Given the description of an element on the screen output the (x, y) to click on. 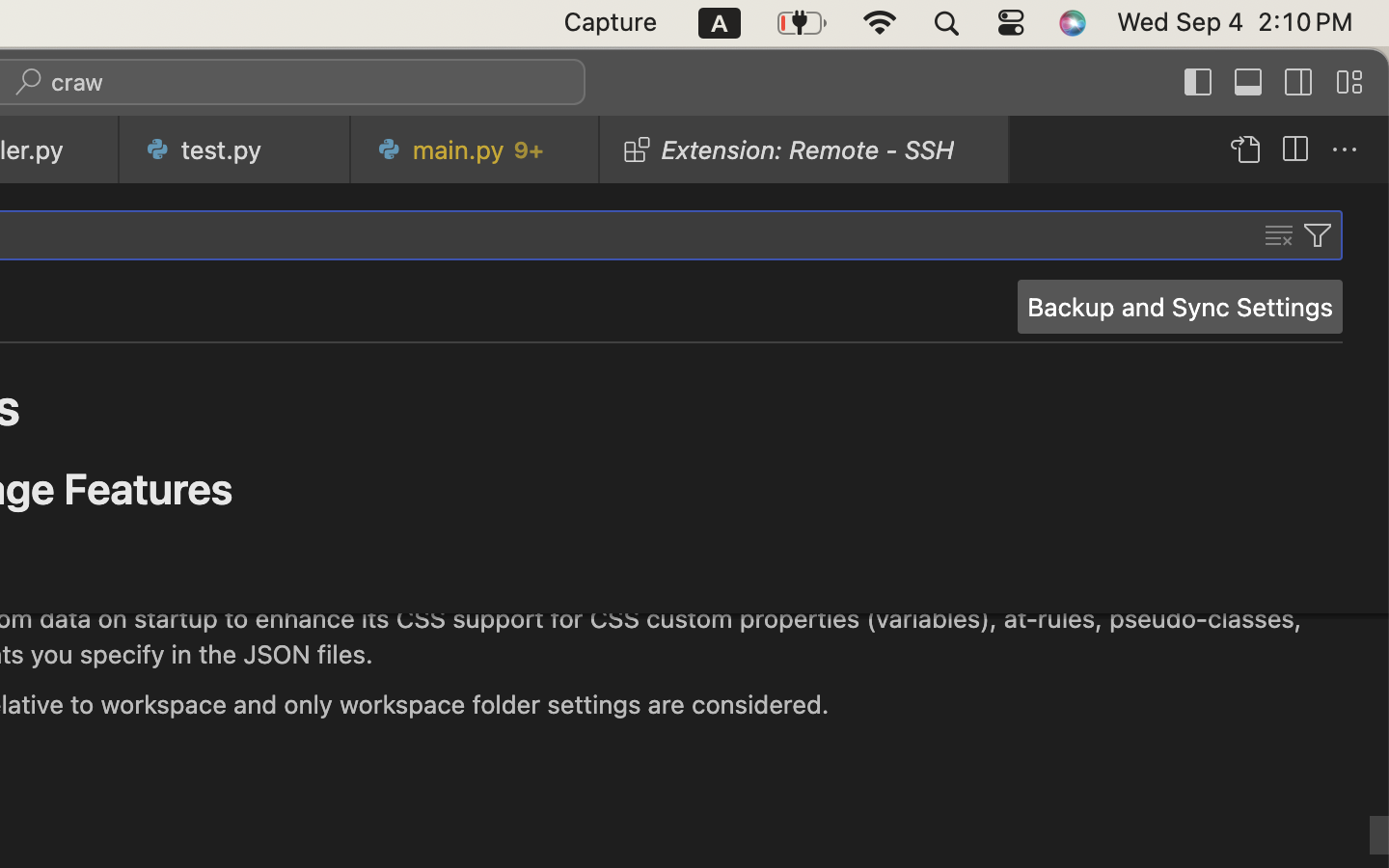
 Element type: AXCheckBox (1248, 82)
0 main.py   9+ Element type: AXRadioButton (475, 149)
 Element type: AXCheckBox (1299, 82)
 Element type: AXButton (1349, 82)
